Given the description of an element on the screen output the (x, y) to click on. 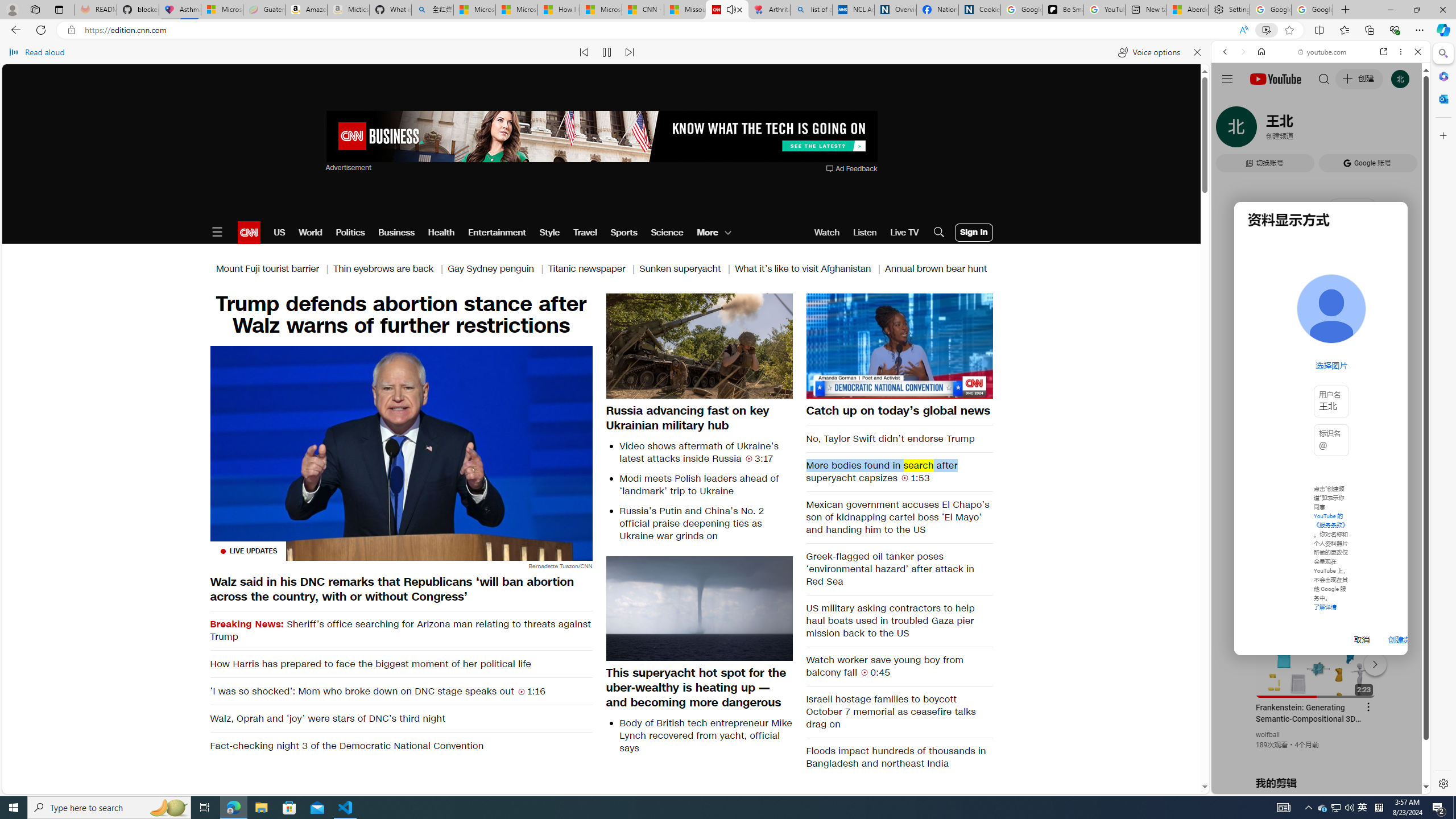
Voice options (1149, 52)
Class: container__video-duration-icon (864, 672)
youtube.com (1322, 51)
User Account Log In Button (973, 232)
